Given the description of an element on the screen output the (x, y) to click on. 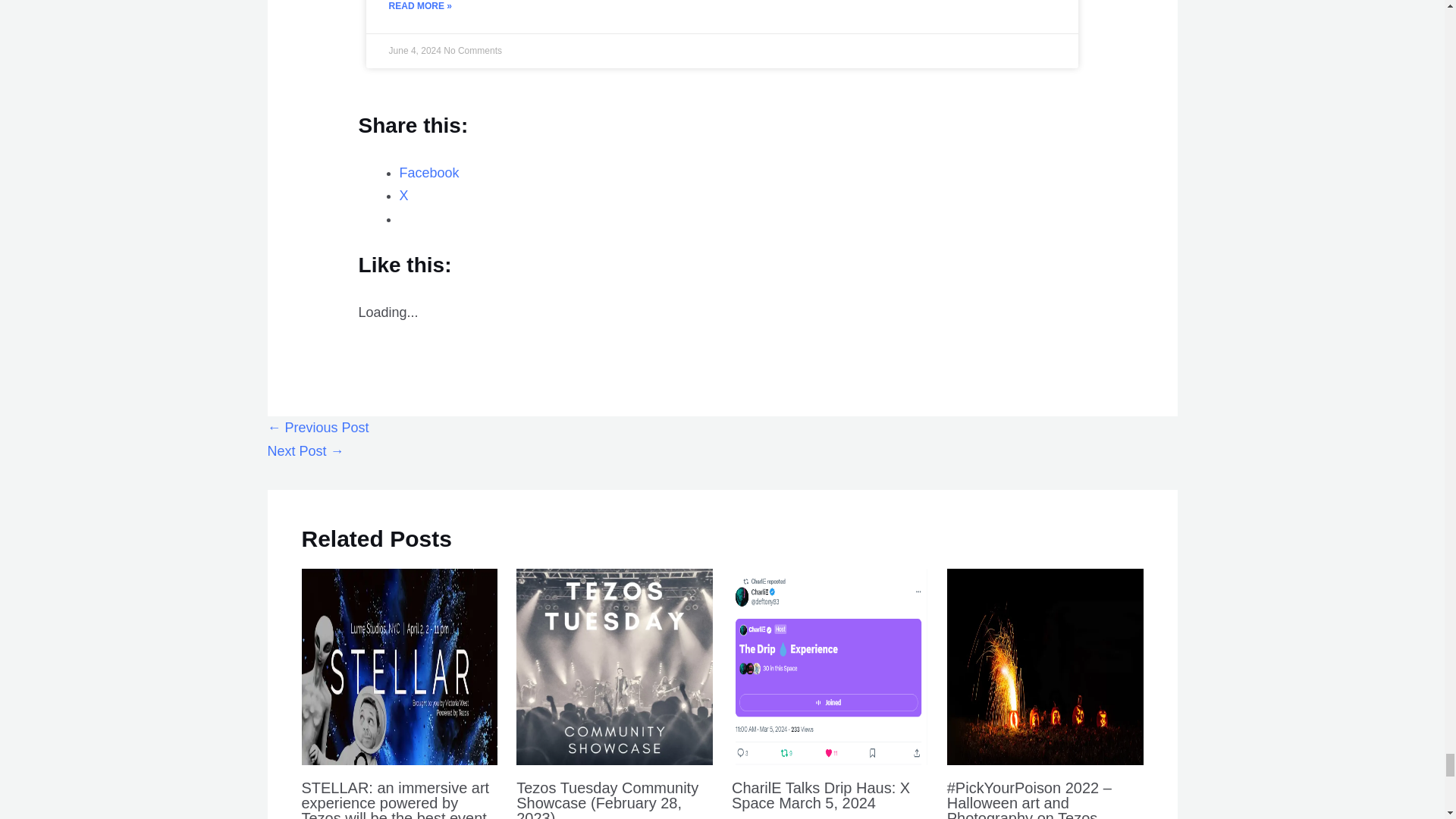
Click to share on Facebook (429, 172)
